Given the description of an element on the screen output the (x, y) to click on. 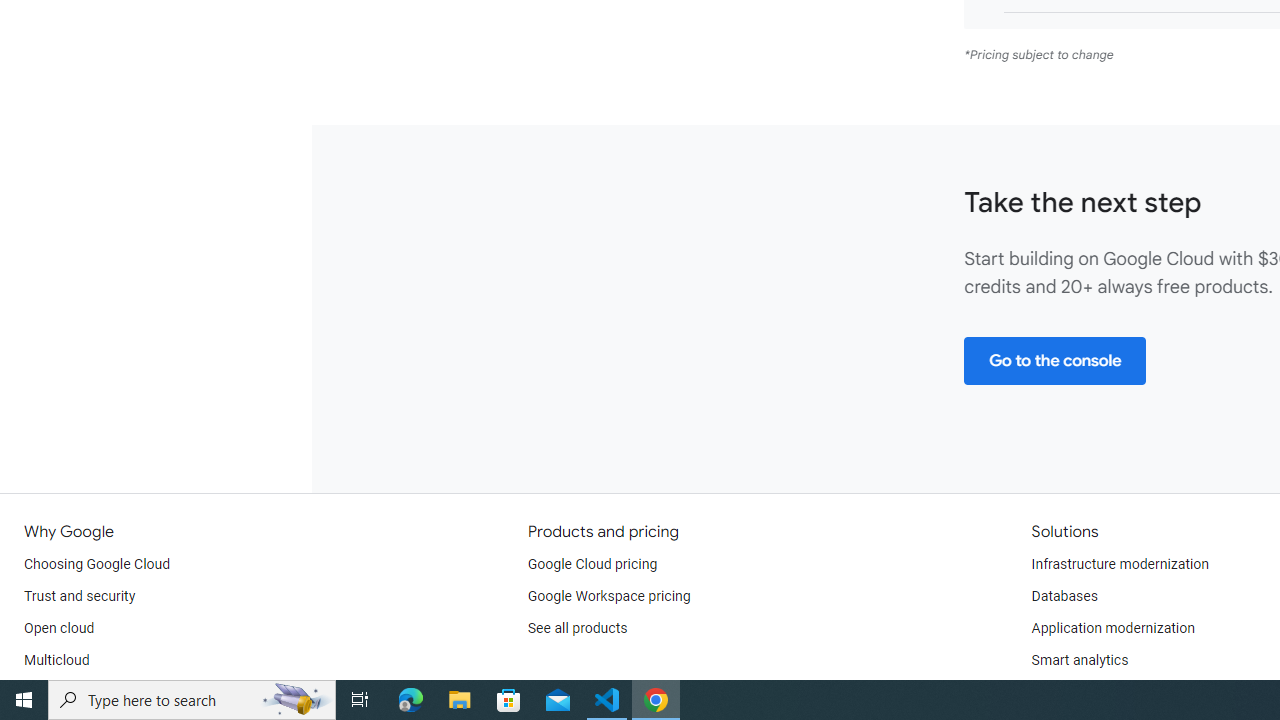
See all products (577, 628)
Open cloud (59, 628)
Trust and security (79, 596)
Infrastructure modernization (1119, 564)
Google Cloud pricing (592, 564)
Databases (1064, 596)
Application modernization (1112, 628)
Smart analytics (1079, 659)
Google Workspace pricing (609, 596)
Artificial Intelligence (1094, 692)
Multicloud (56, 659)
Global infrastructure (88, 692)
Choosing Google Cloud (97, 564)
Go to the console (1054, 360)
